Given the description of an element on the screen output the (x, y) to click on. 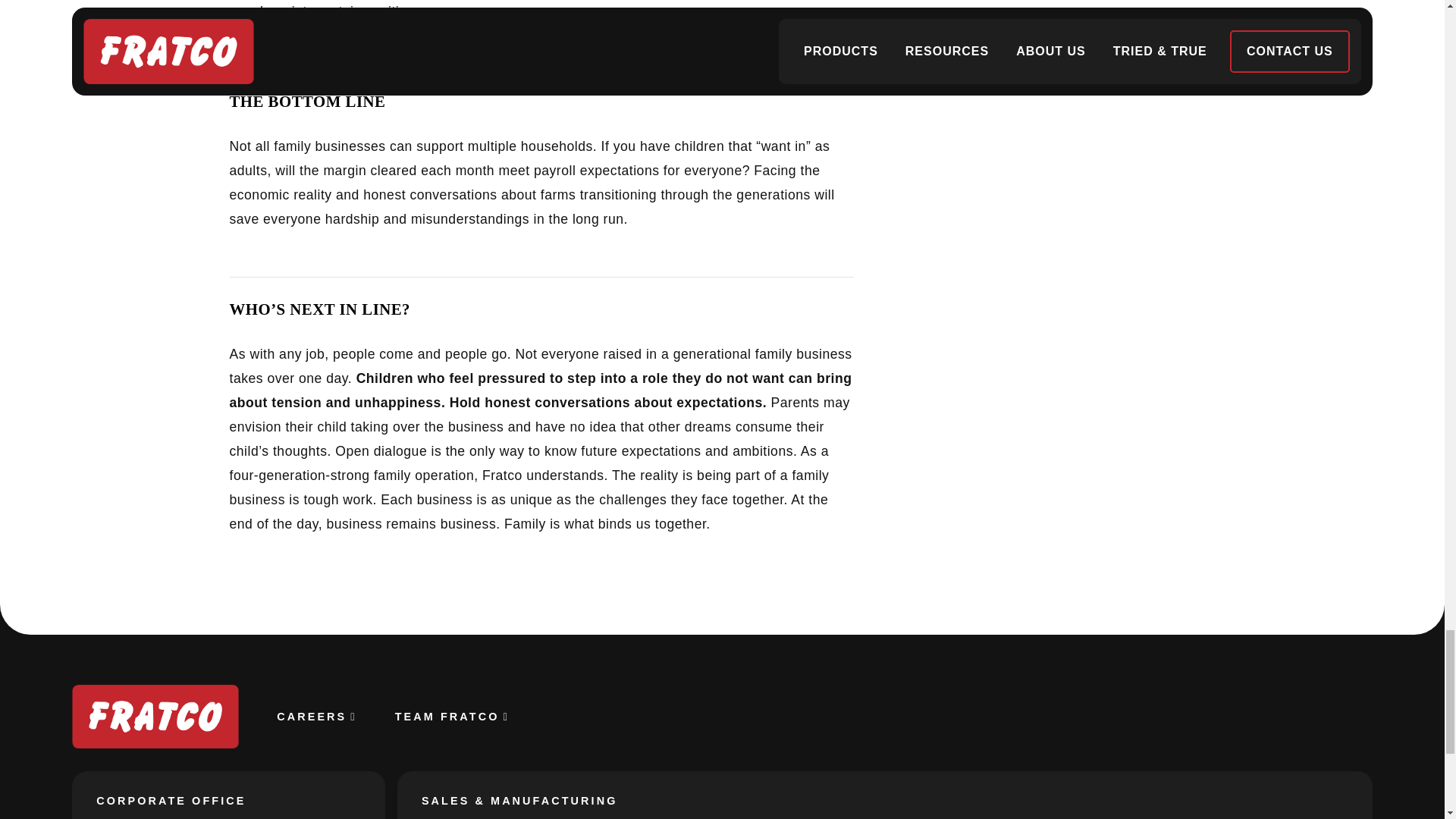
Fratco Logo (154, 716)
